Given the description of an element on the screen output the (x, y) to click on. 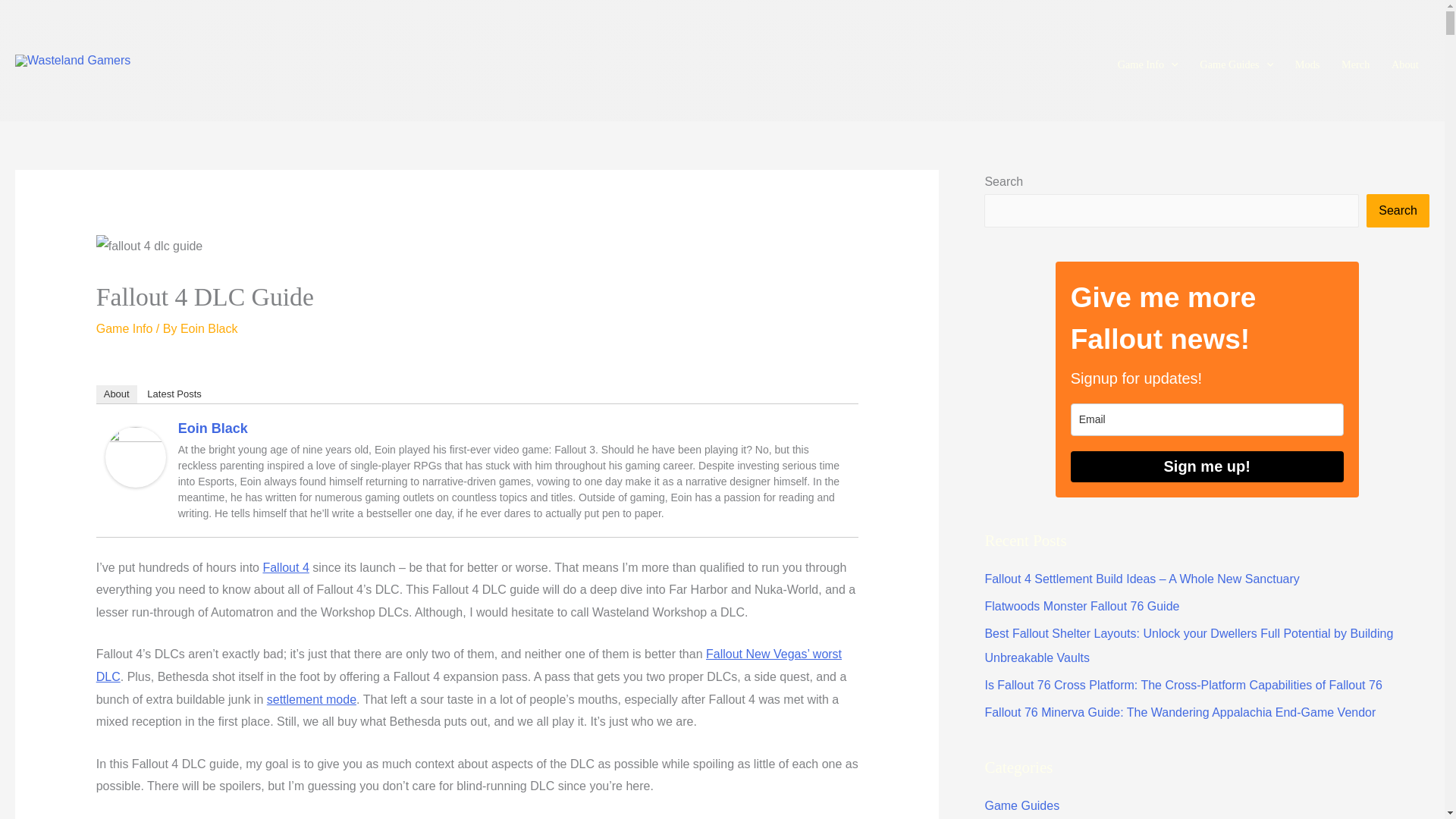
View all posts by Eoin Black (209, 328)
Eoin Black (134, 455)
Game Info (1147, 60)
Game Guides (1236, 60)
